Given the description of an element on the screen output the (x, y) to click on. 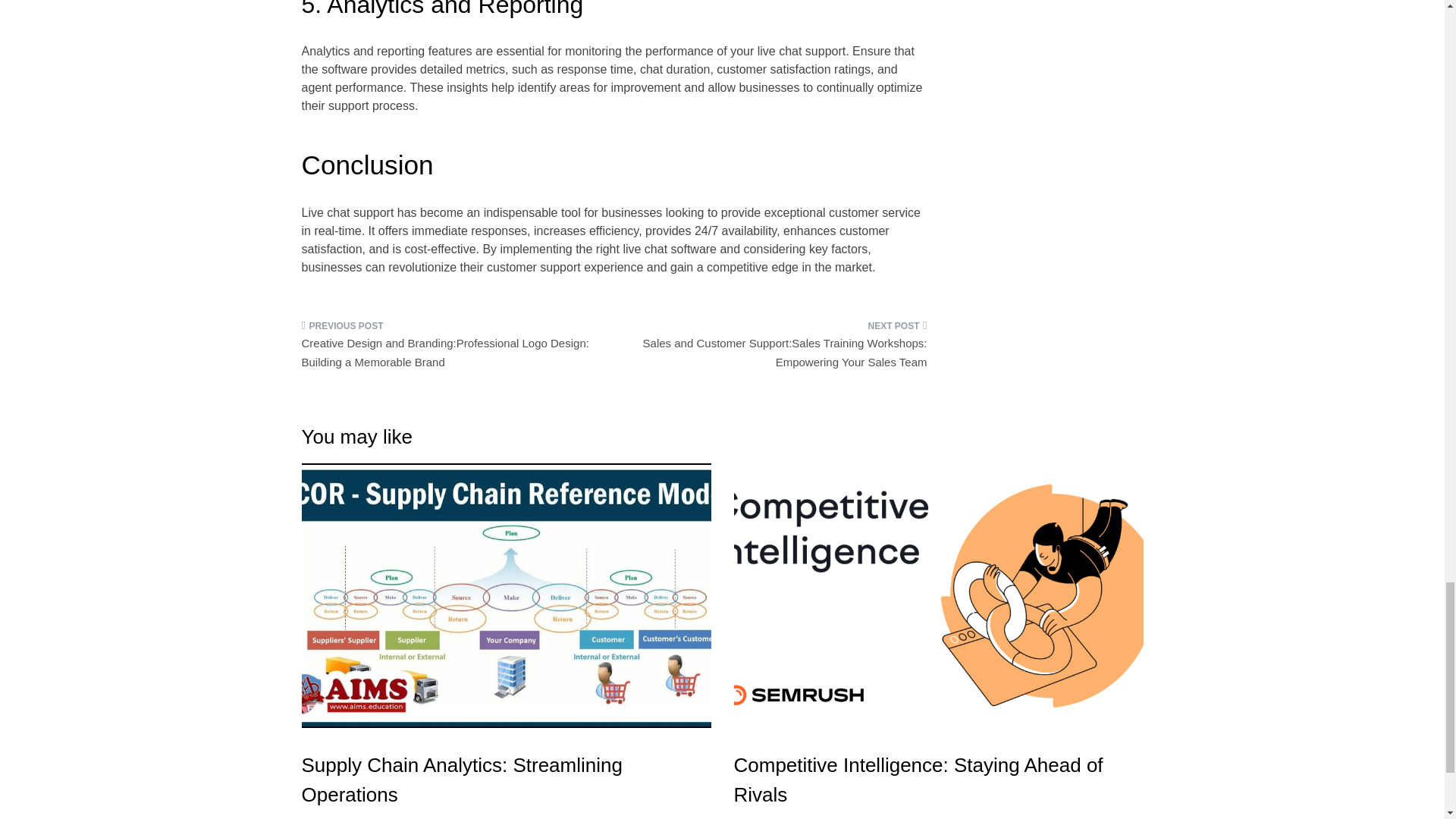
Supply Chain Analytics: Streamlining Operations (462, 779)
Competitive Intelligence: Staying Ahead of Rivals (918, 779)
